Given the description of an element on the screen output the (x, y) to click on. 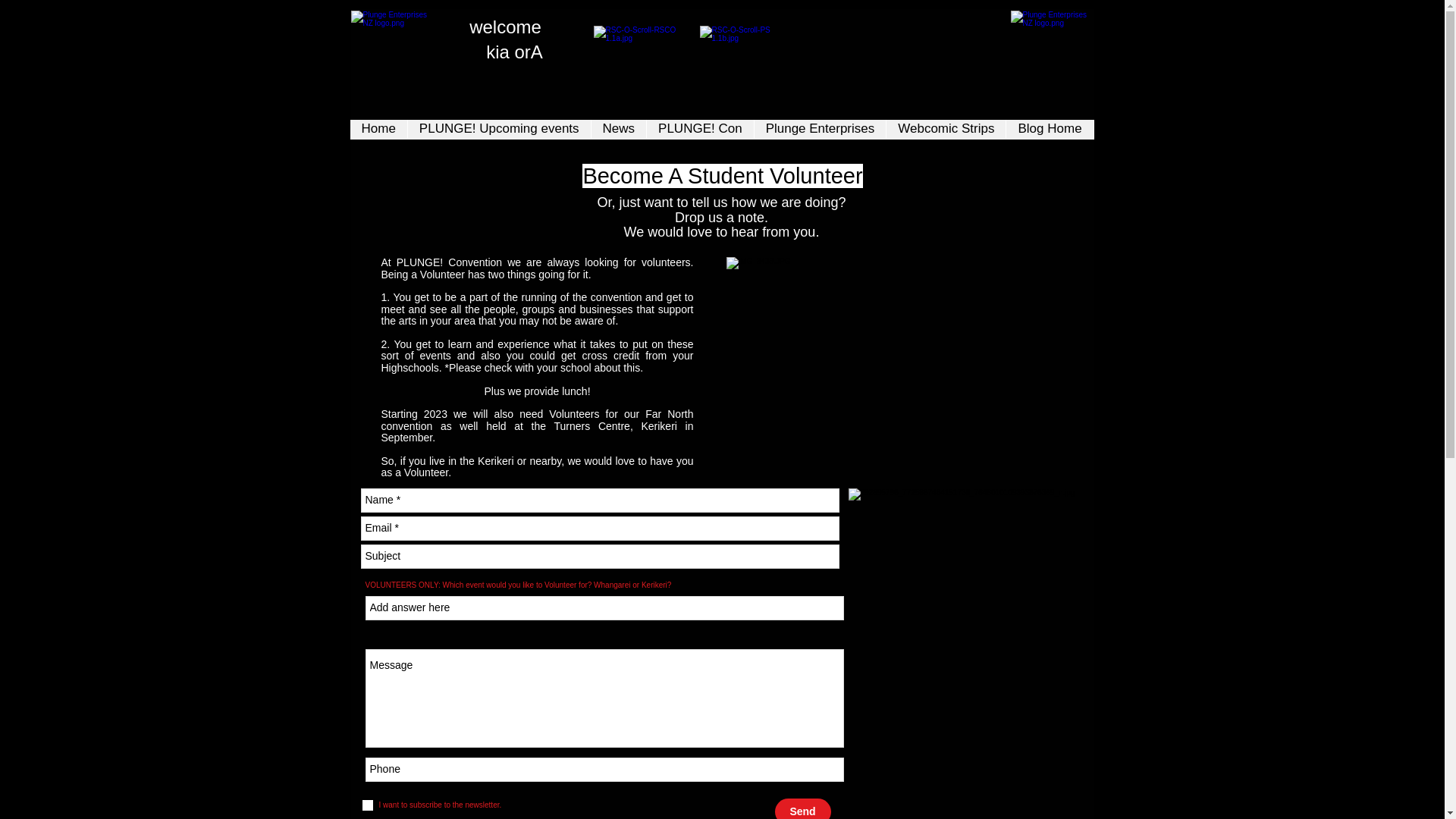
Send (802, 808)
Blog Home (1049, 129)
Log In (1044, 57)
Home (378, 129)
PLUNGE! Upcoming events (499, 129)
